Given the description of an element on the screen output the (x, y) to click on. 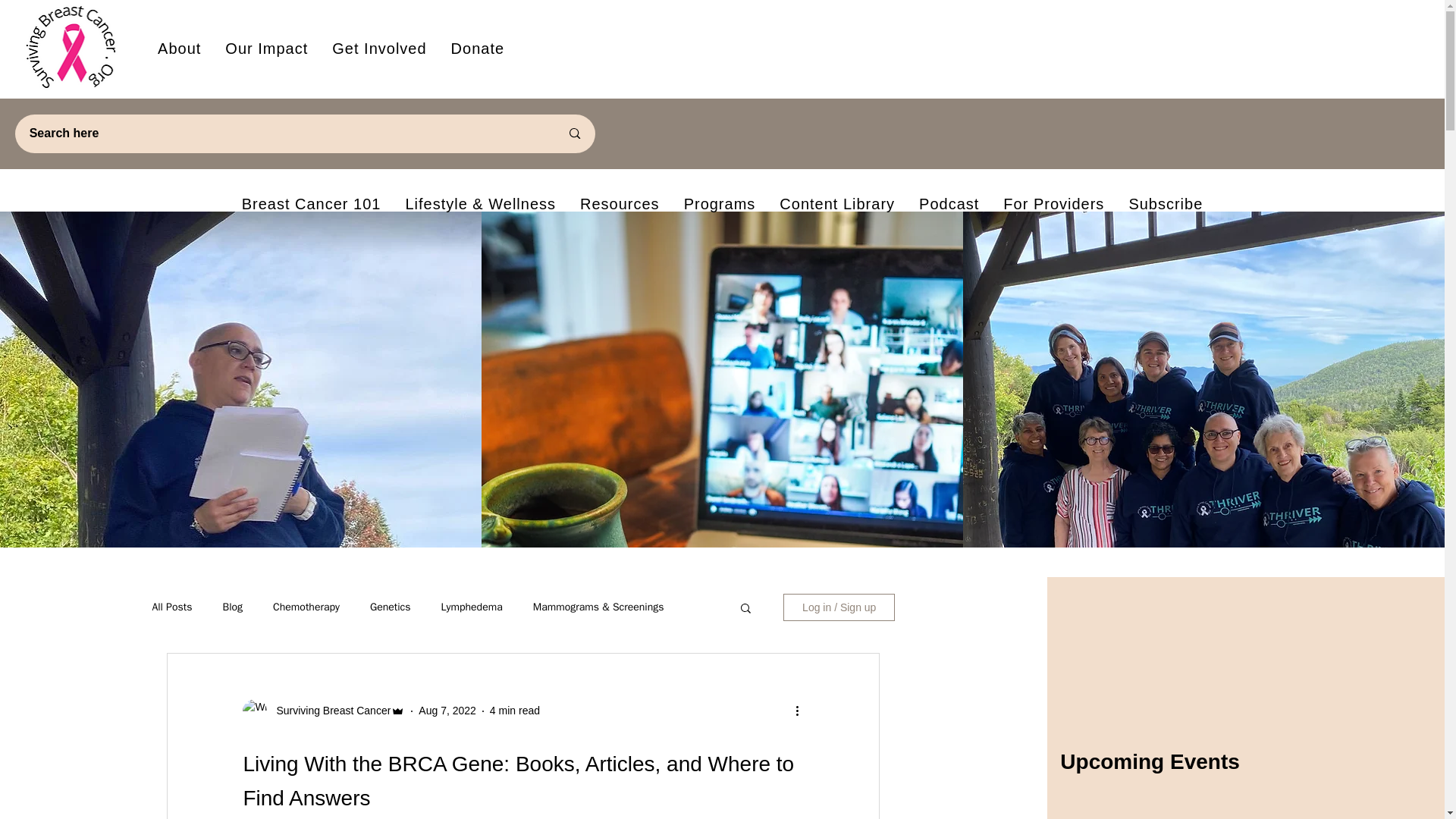
4 min read (514, 710)
Aug 7, 2022 (556, 48)
Surviving Breast Cancer (447, 710)
